Given the description of an element on the screen output the (x, y) to click on. 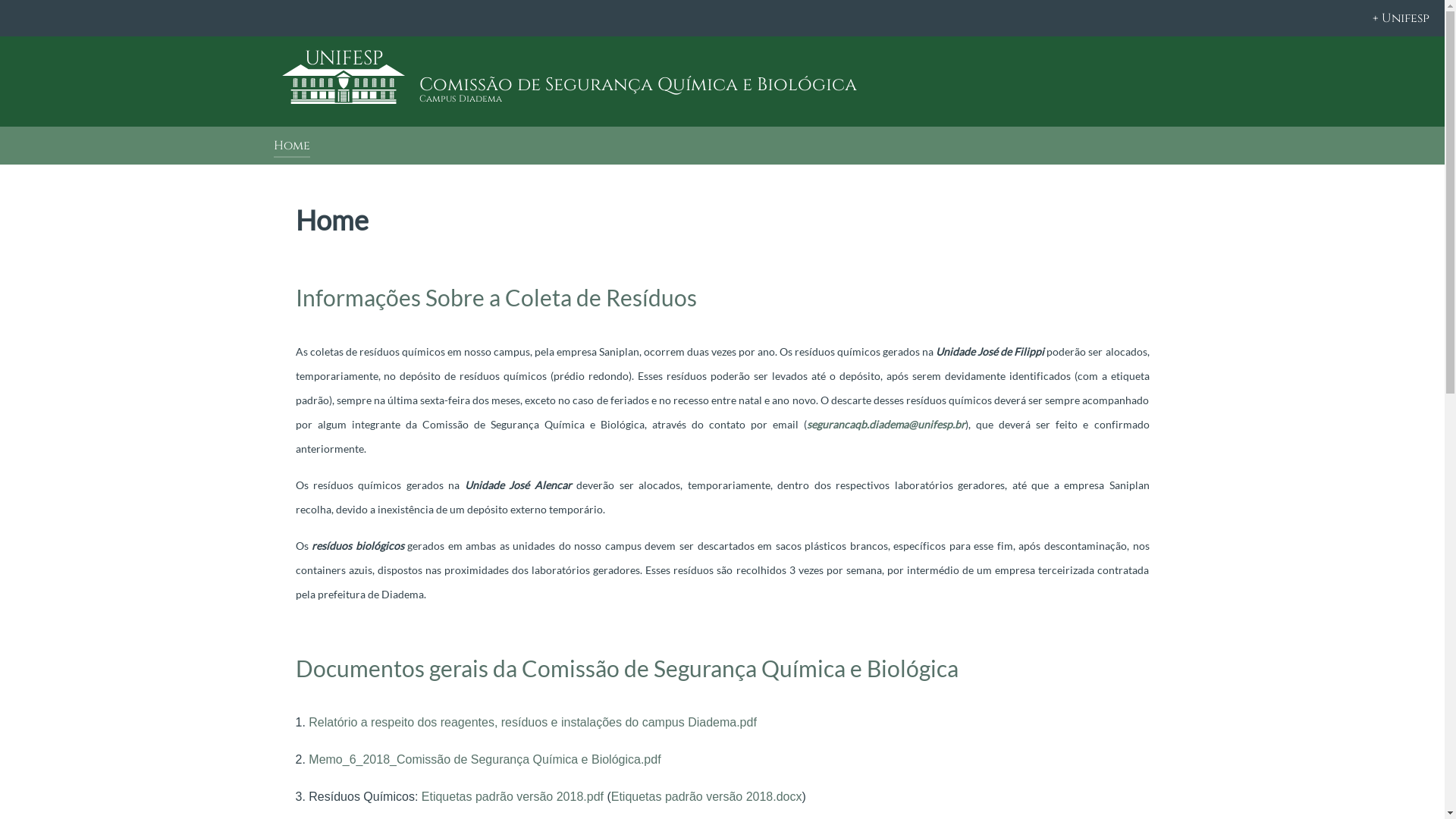
on Element type: text (4, 4)
segurancaqb.diadema@unifesp.br Element type: text (885, 423)
+ Unifesp Element type: text (722, 18)
Home Element type: text (291, 146)
